Given the description of an element on the screen output the (x, y) to click on. 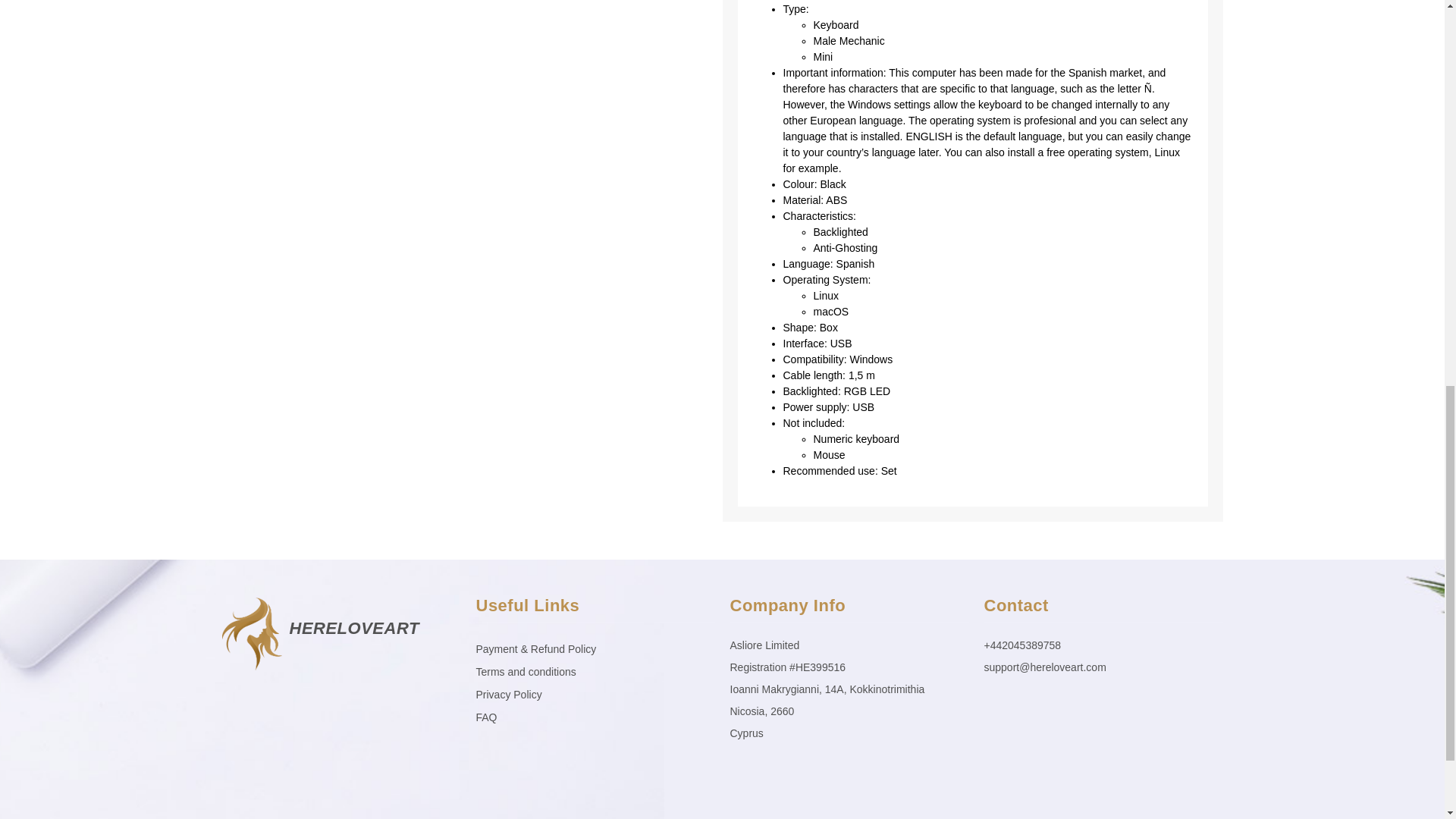
HERELOVEART (354, 628)
Privacy Policy (595, 694)
FAQ (595, 716)
Terms and conditions (595, 671)
